Given the description of an element on the screen output the (x, y) to click on. 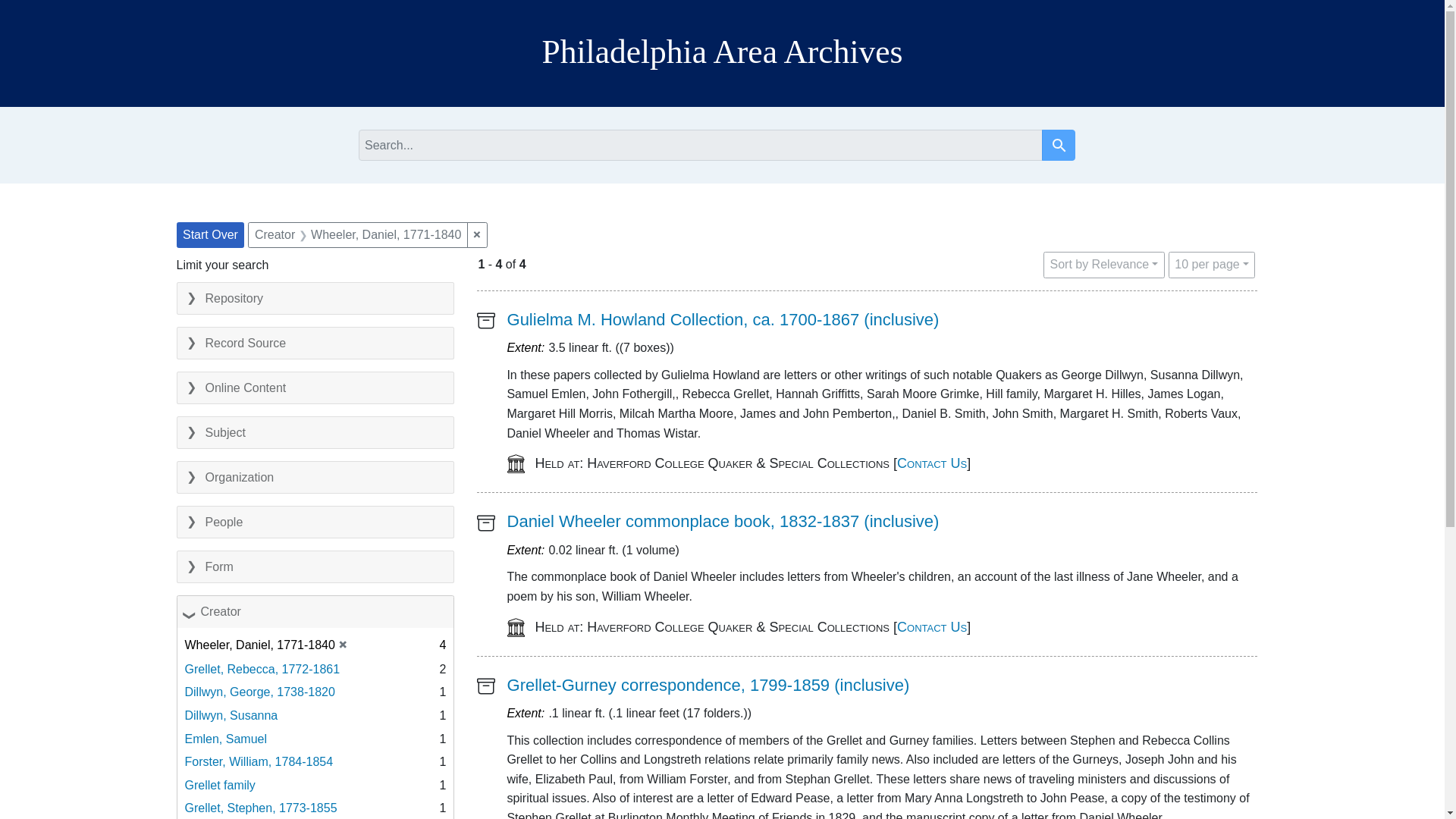
Contact Us (931, 462)
Search (1058, 145)
Subject (315, 431)
Repository (315, 297)
Online Content (315, 387)
Wheeler, Daniel, 1771-1840 (386, 234)
Skip to main content (34, 7)
Skip to search (33, 7)
Skip to first result (29, 7)
